Given the description of an element on the screen output the (x, y) to click on. 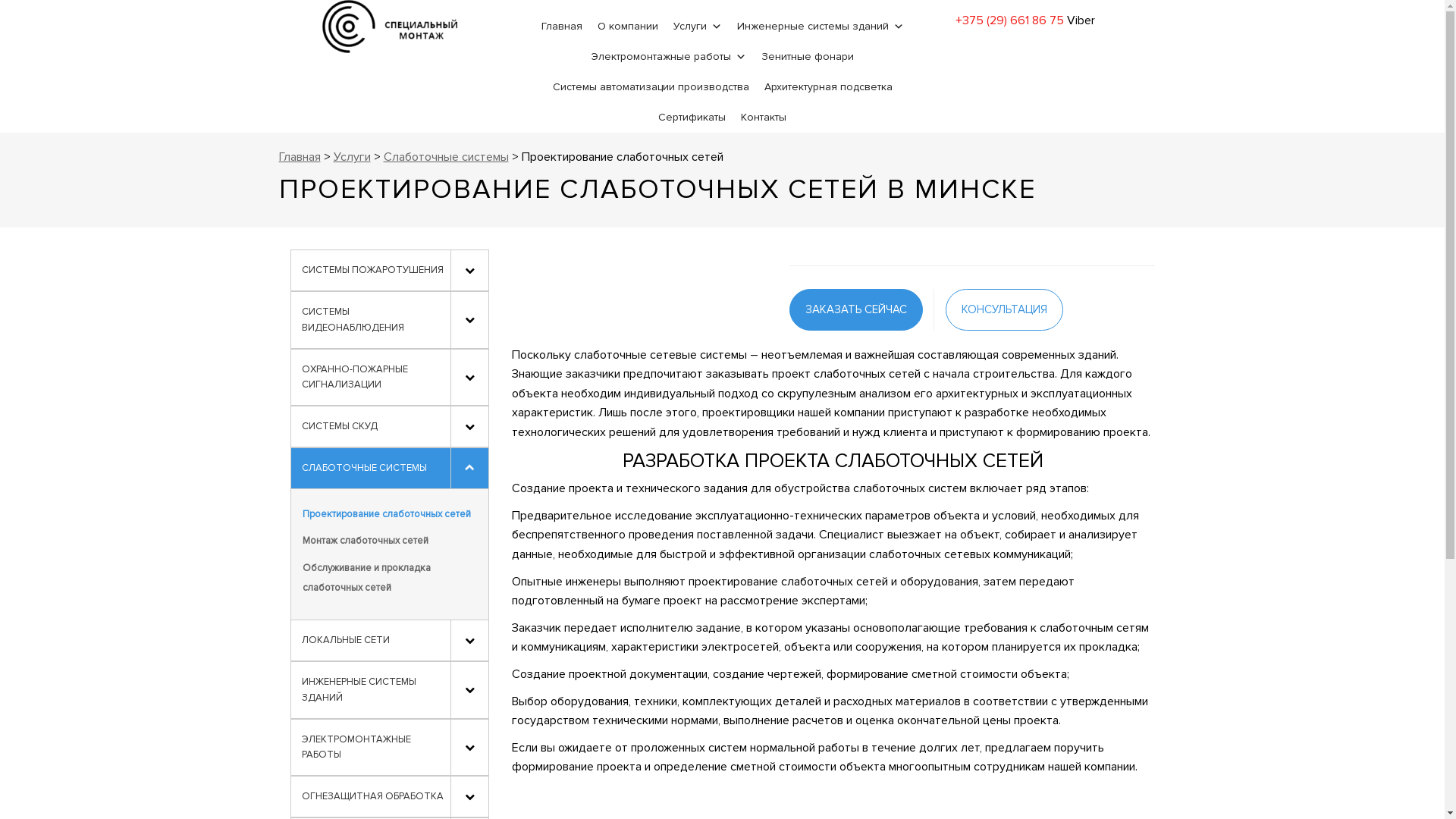
+375 (29) 661 86 75 Element type: text (1009, 20)
